Given the description of an element on the screen output the (x, y) to click on. 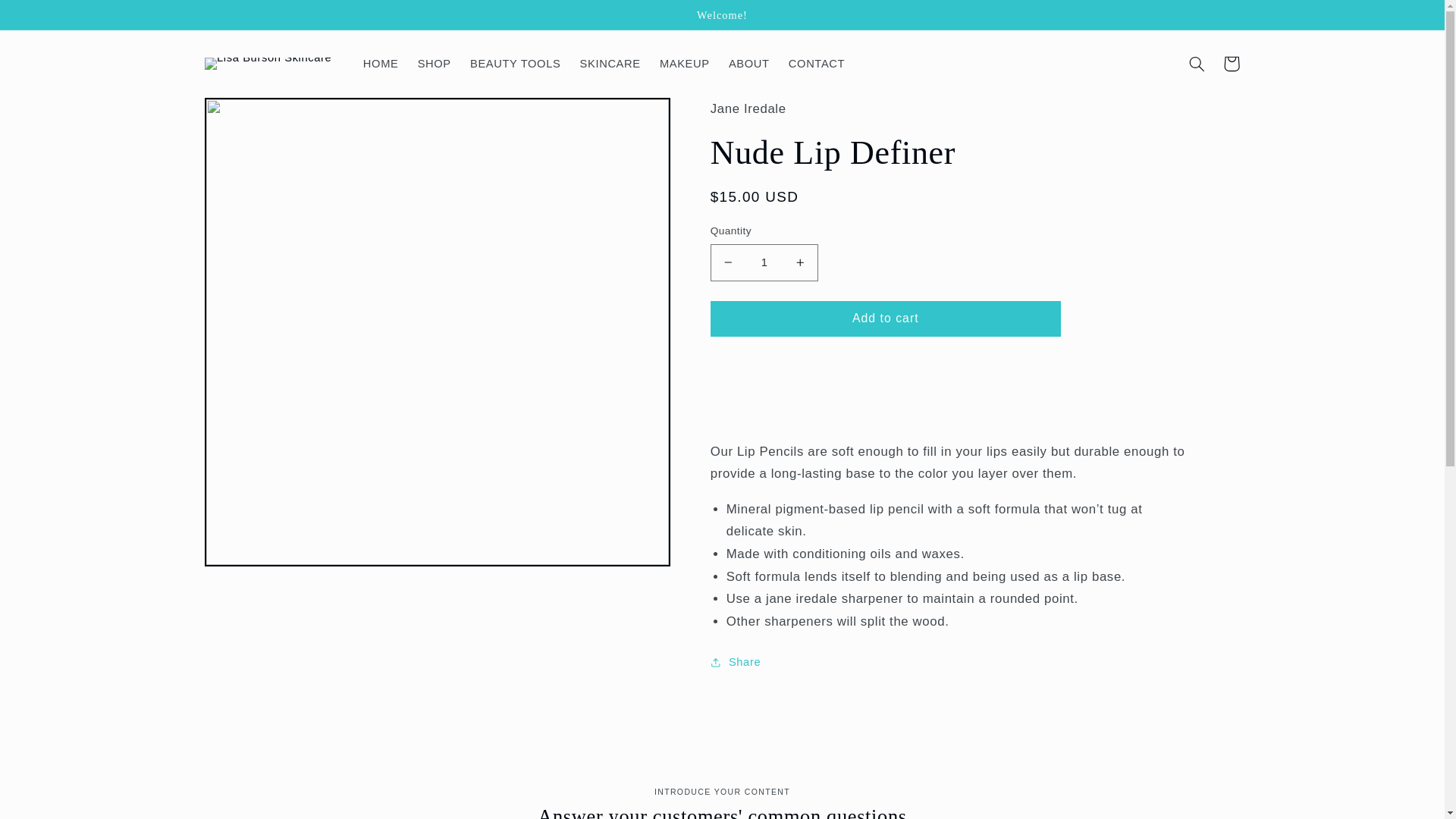
SKINCARE (609, 63)
1 (764, 262)
BEAUTY TOOLS (515, 63)
Decrease quantity for Nude Lip Definer (728, 262)
MAKEUP (684, 63)
Skip to content (47, 17)
CONTACT (816, 63)
ABOUT (748, 63)
HOME (380, 63)
Cart (1231, 63)
Skip to product information (251, 114)
Increase quantity for Nude Lip Definer (799, 262)
Add to cart (885, 318)
SHOP (433, 63)
